Given the description of an element on the screen output the (x, y) to click on. 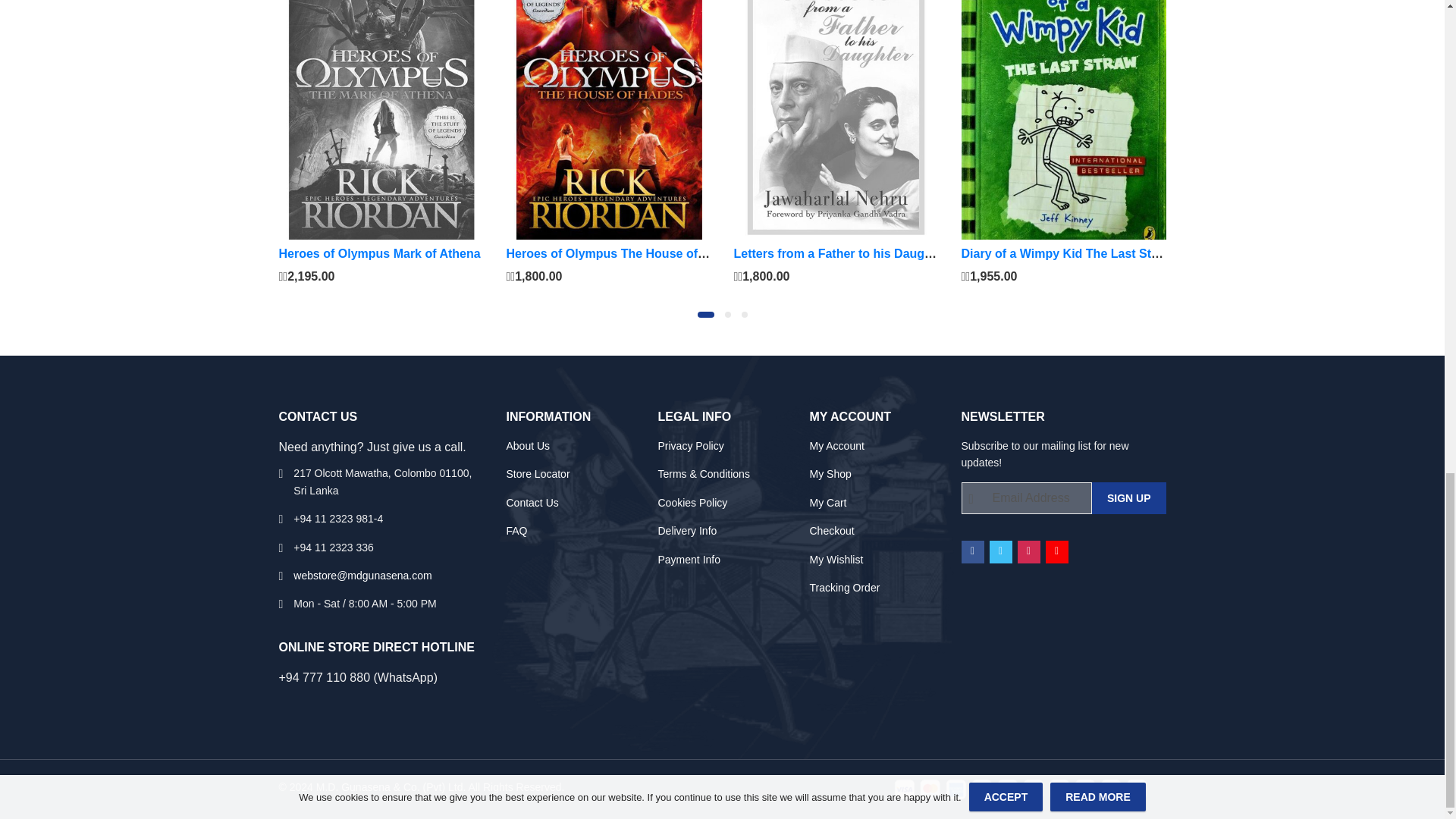
Sign up (1129, 498)
